Given the description of an element on the screen output the (x, y) to click on. 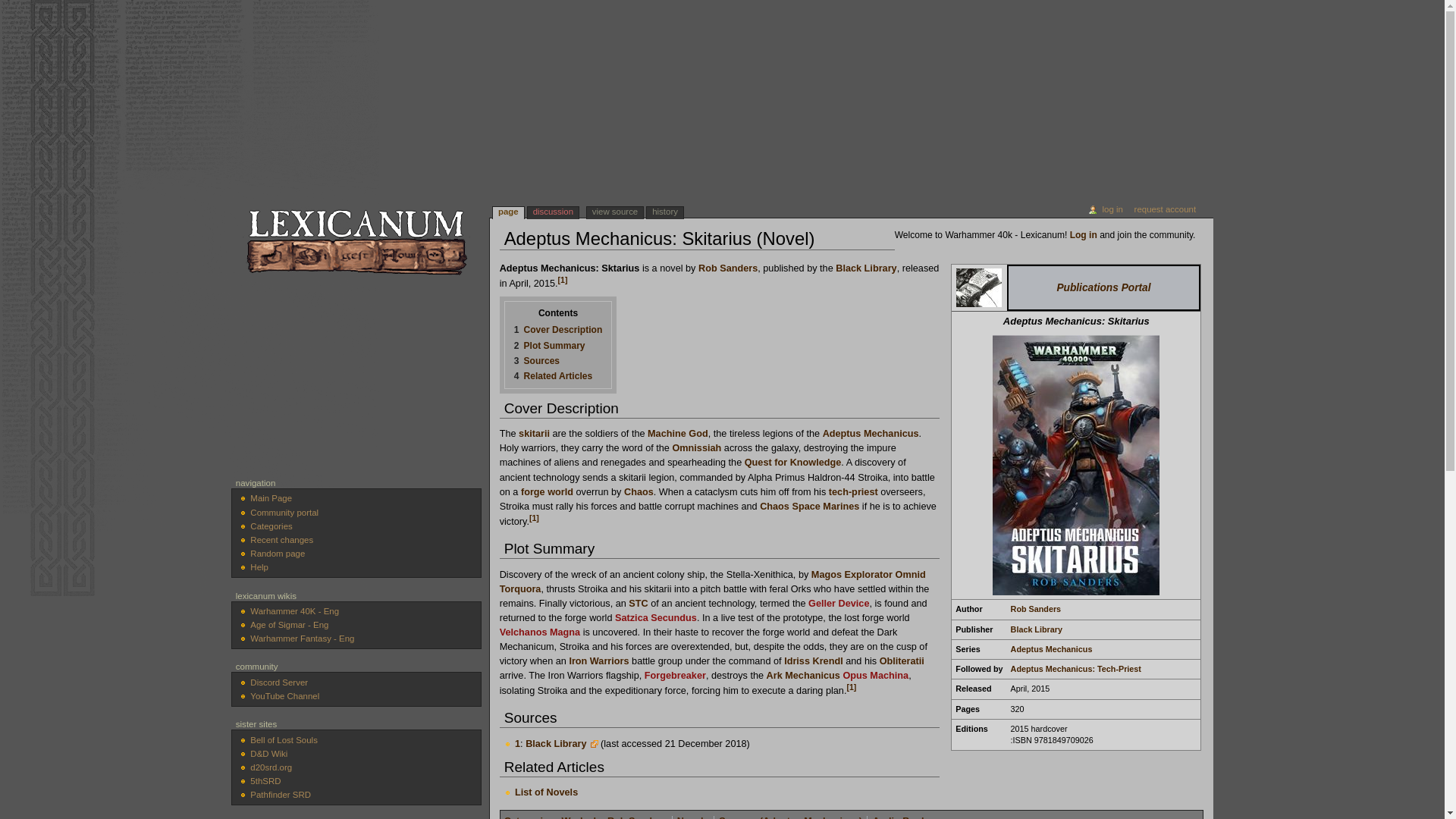
Rob Sanders (727, 267)
Iron Warriors (598, 661)
2 Plot Summary (549, 345)
Magos Explorator (851, 574)
Chaos Space Marines (809, 506)
4 Related Articles (552, 376)
Satzica Secundus (655, 617)
Skitarii (534, 433)
Chaos Space Marines (809, 506)
Adeptus Mechanicus (870, 433)
